Given the description of an element on the screen output the (x, y) to click on. 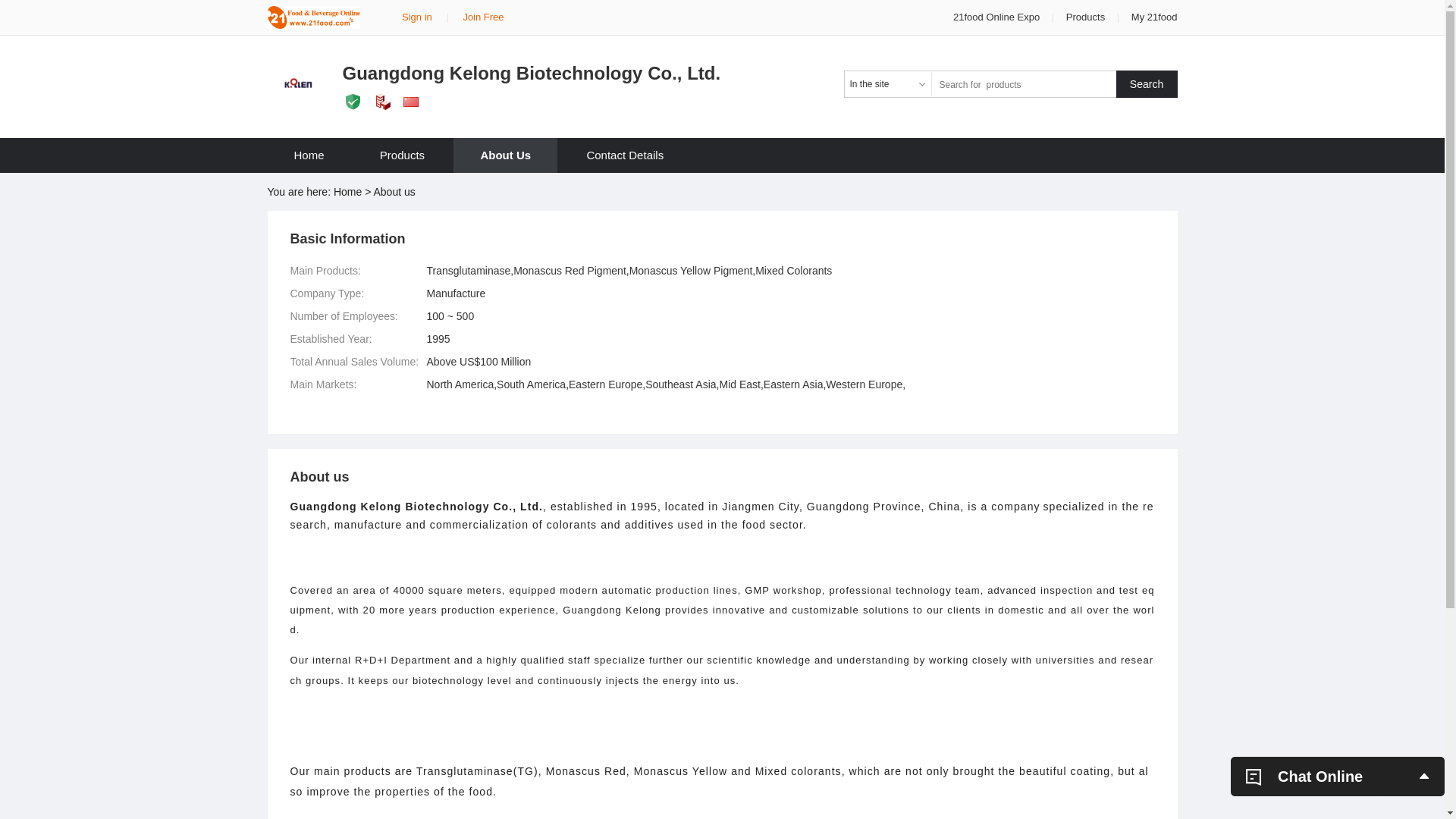
Products Element type: text (1085, 16)
Search Element type: text (1146, 83)
My 21food Element type: text (1154, 16)
Home Element type: text (308, 155)
Contact Details Element type: text (624, 155)
21food Online Expo Element type: text (997, 16)
Products Element type: text (402, 155)
About Us Element type: text (505, 155)
Sign in Element type: text (416, 16)
Home Element type: text (347, 191)
Join Free Element type: text (482, 16)
